Given the description of an element on the screen output the (x, y) to click on. 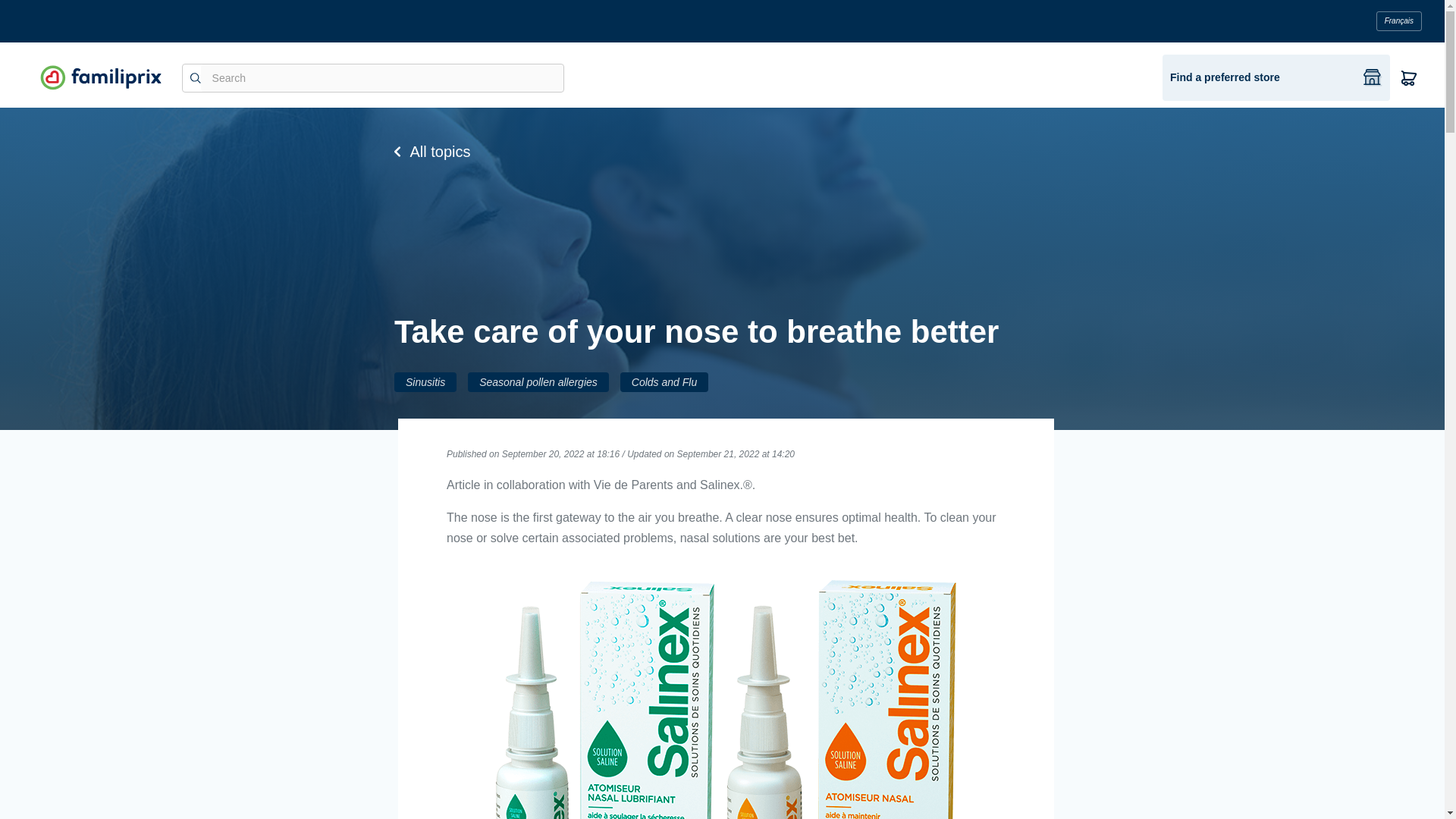
Colds and Flu (663, 382)
All topics (721, 151)
Find a preferred store (1275, 77)
Seasonal pollen allergies (537, 382)
Sinusitis (425, 382)
